Given the description of an element on the screen output the (x, y) to click on. 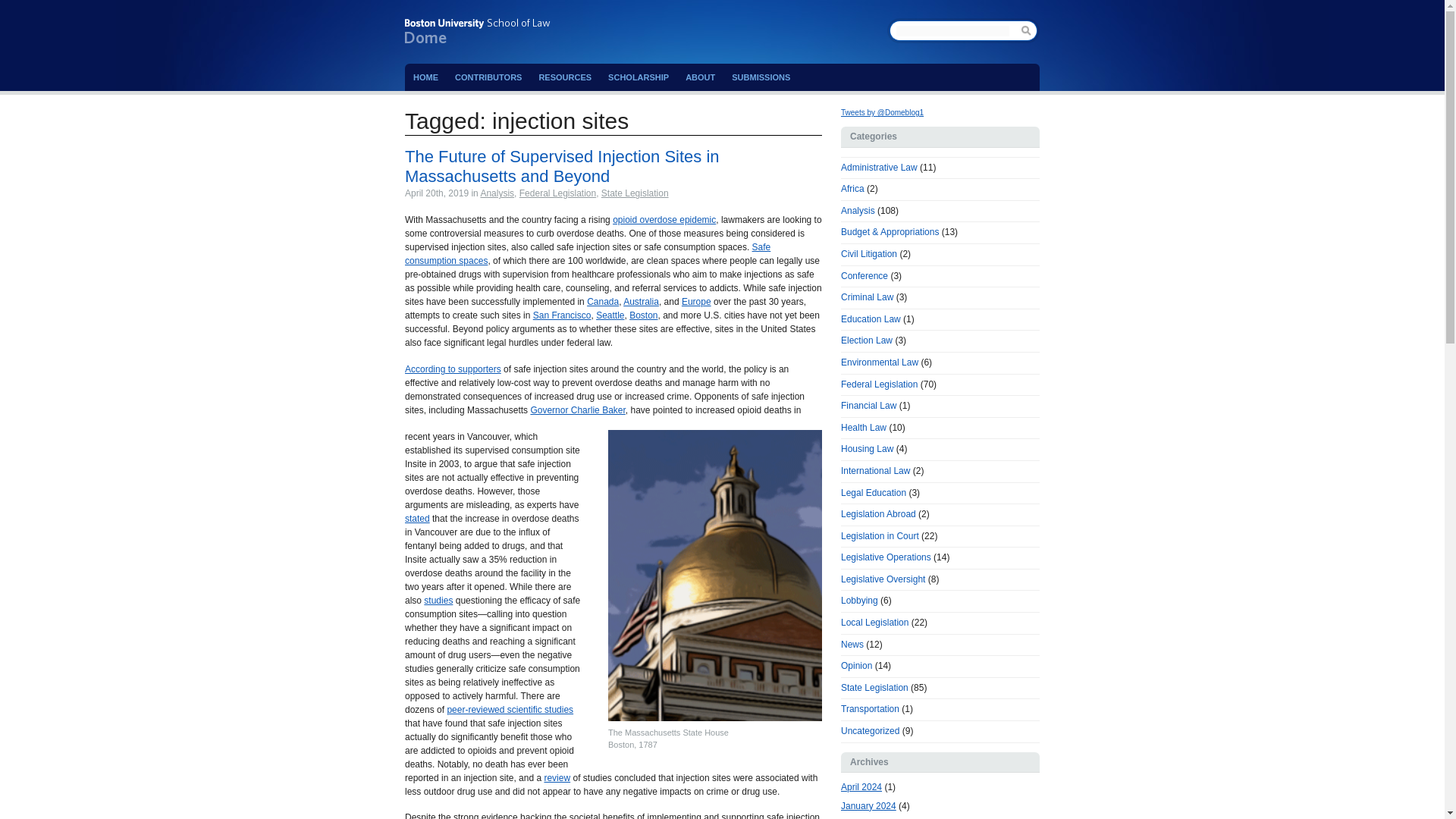
Federal Legislation (557, 193)
SUBMISSIONS (760, 76)
stated (416, 518)
HOME (425, 76)
Boston (643, 315)
Analysis (496, 193)
Governor Charlie Baker (576, 409)
studies (437, 600)
San Francisco (561, 315)
peer-reviewed scientific studies (509, 709)
CONTRIBUTORS (487, 76)
According to supporters (452, 368)
opioid overdose epidemic (664, 219)
review (556, 777)
